Given the description of an element on the screen output the (x, y) to click on. 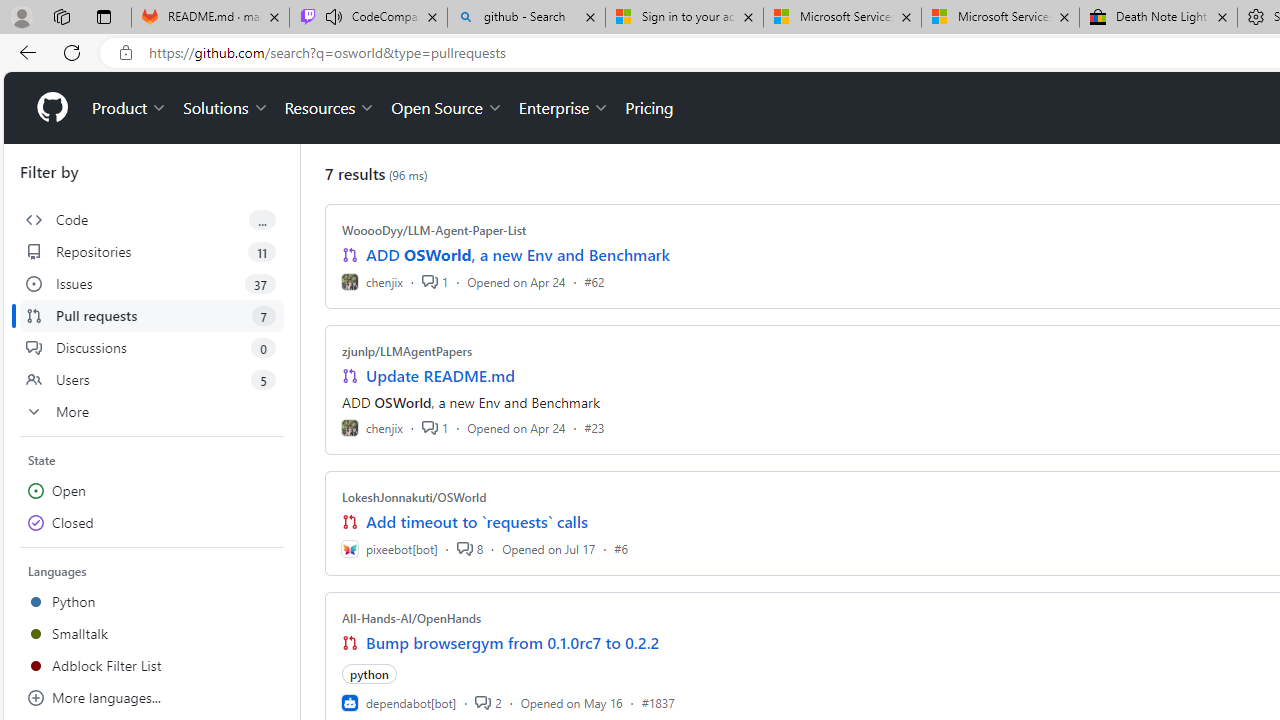
#6 (621, 548)
#23 (594, 427)
pixeebot[bot] (389, 548)
WooooDyy/LLM-Agent-Paper-List (434, 230)
More (152, 411)
Update README.md (440, 376)
ADD OSWorld, a new Env and Benchmark (517, 255)
LokeshJonnakuti/OSWorld (413, 497)
Bump browsergym from 0.1.0rc7 to 0.2.2 (513, 642)
